Given the description of an element on the screen output the (x, y) to click on. 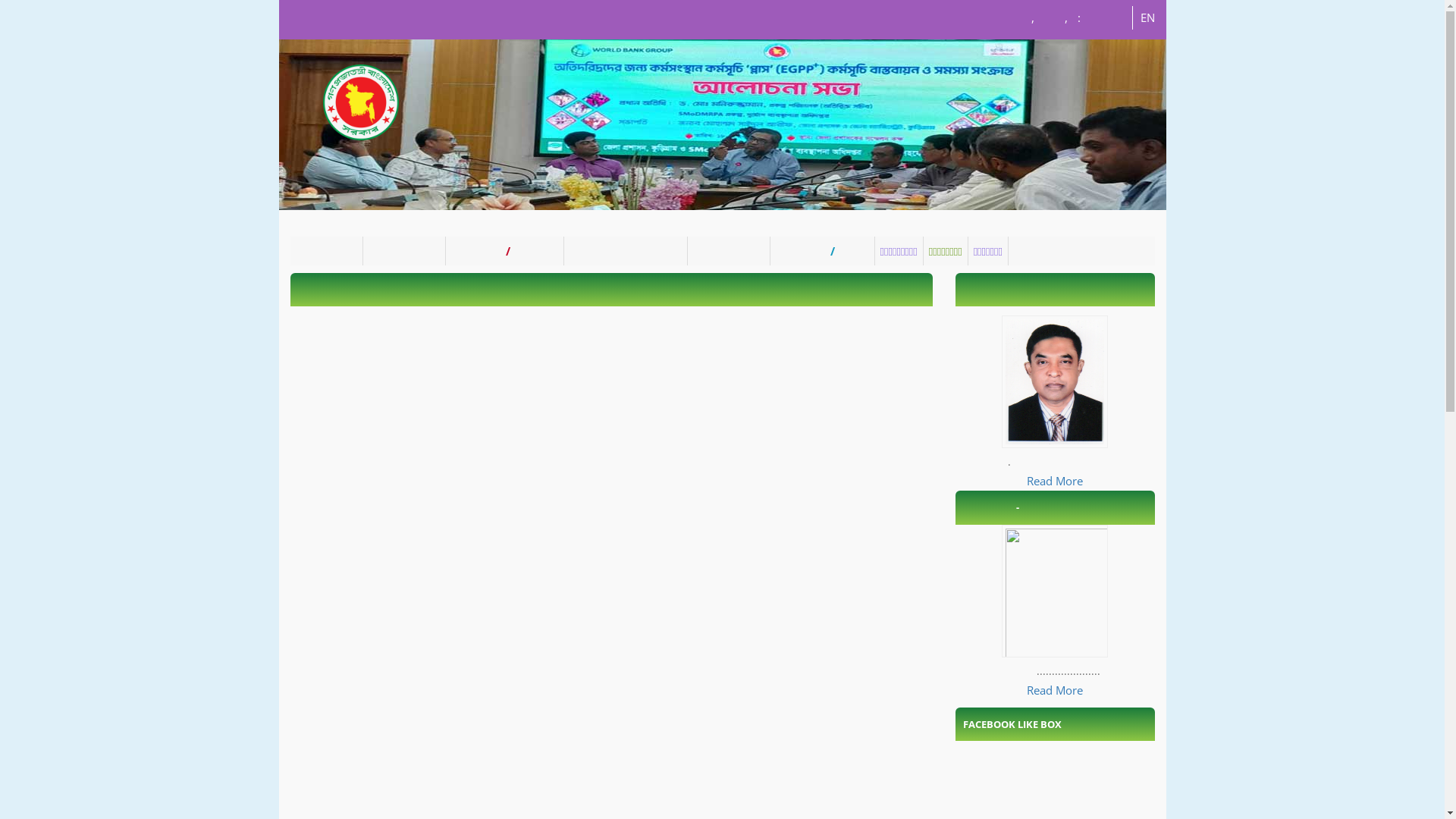
Read More Element type: text (1054, 480)
Read More Element type: text (1054, 689)
EN Element type: text (1147, 17)
